Given the description of an element on the screen output the (x, y) to click on. 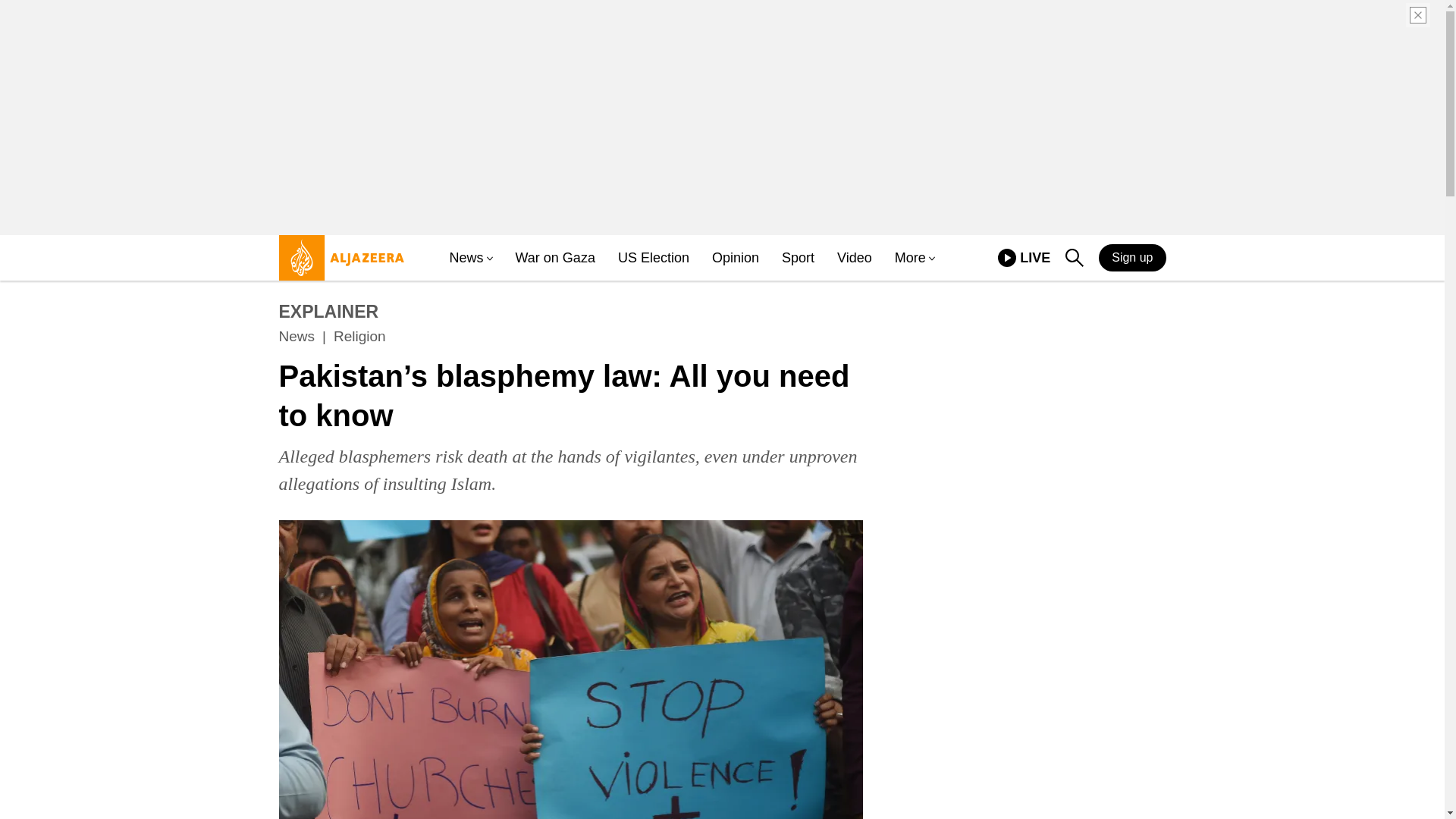
search (1074, 257)
Sport (797, 257)
Religion (1023, 257)
Skip to Content (359, 336)
War on Gaza (337, 264)
Video (555, 257)
Sign up (854, 257)
US Election (1132, 257)
Opinion (652, 257)
